Given the description of an element on the screen output the (x, y) to click on. 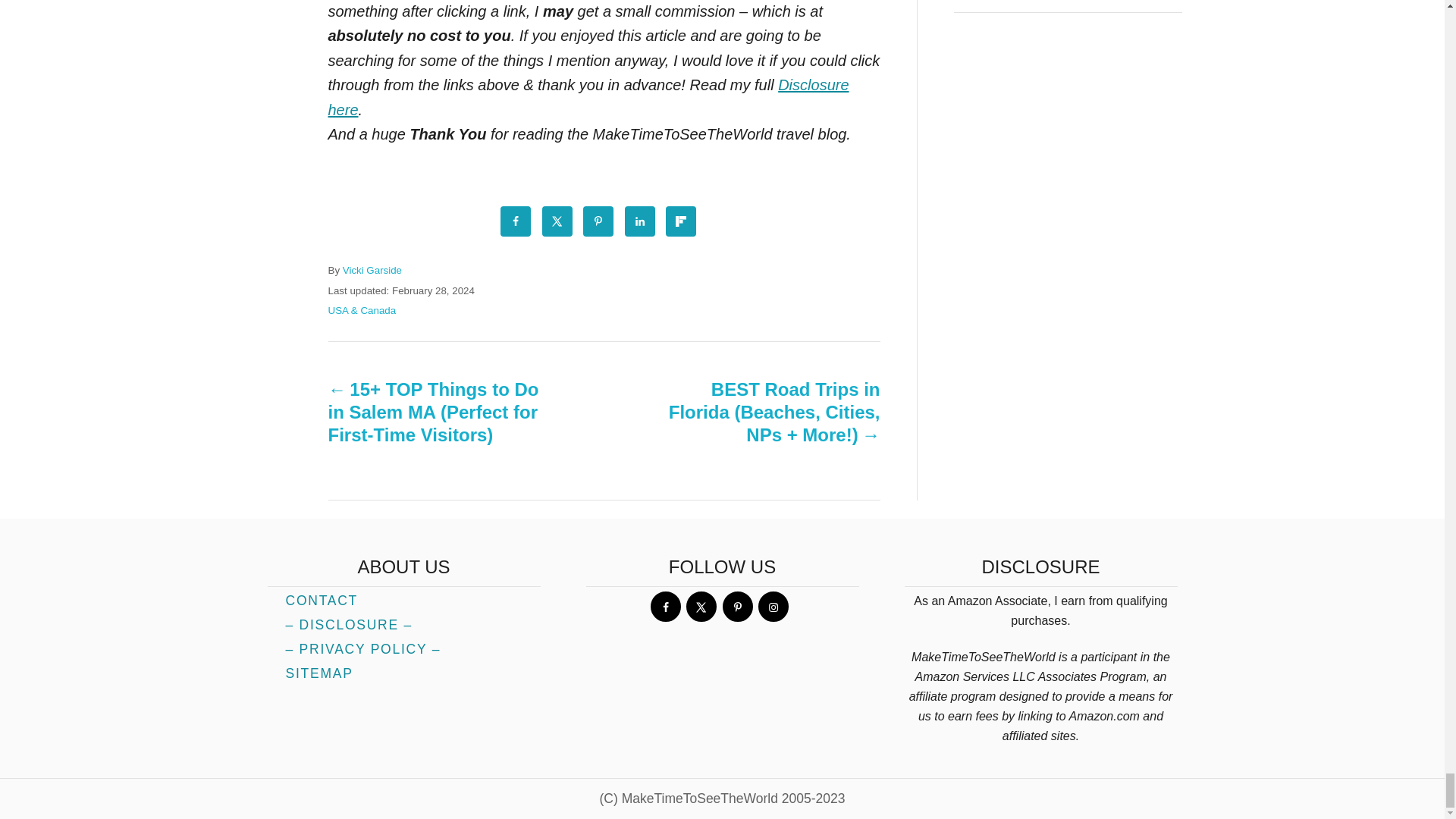
Share on Facebook (515, 221)
Save to Pinterest (597, 221)
Share on Flipboard (680, 221)
Share on LinkedIn (639, 221)
Share on X (556, 221)
